Given the description of an element on the screen output the (x, y) to click on. 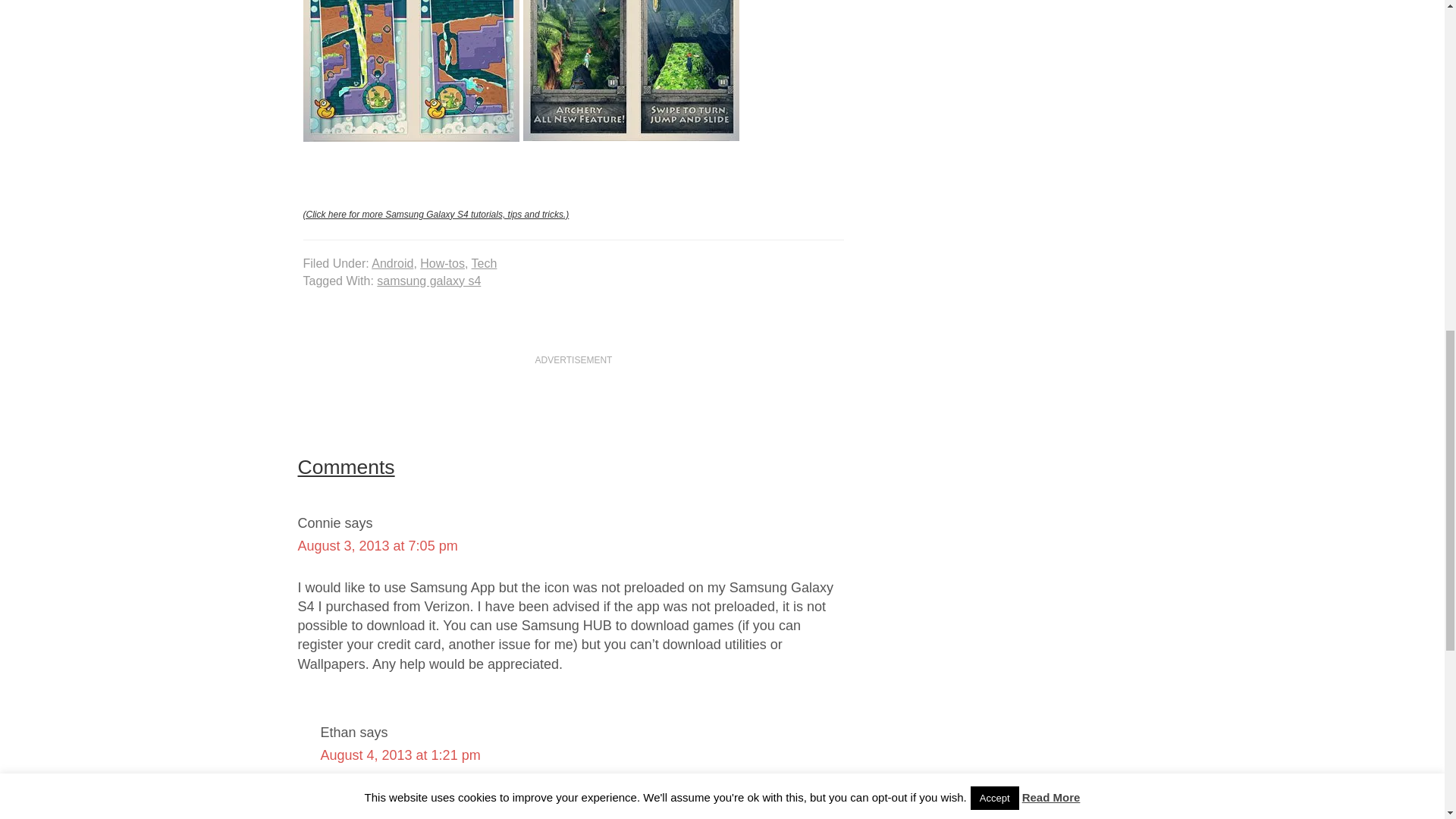
August 3, 2013 at 7:05 pm (377, 545)
Advertisement (1019, 282)
Android (392, 263)
August 4, 2013 at 1:21 pm (400, 754)
How-tos (442, 263)
Tech (484, 263)
samsung galaxy s4 (428, 280)
